Given the description of an element on the screen output the (x, y) to click on. 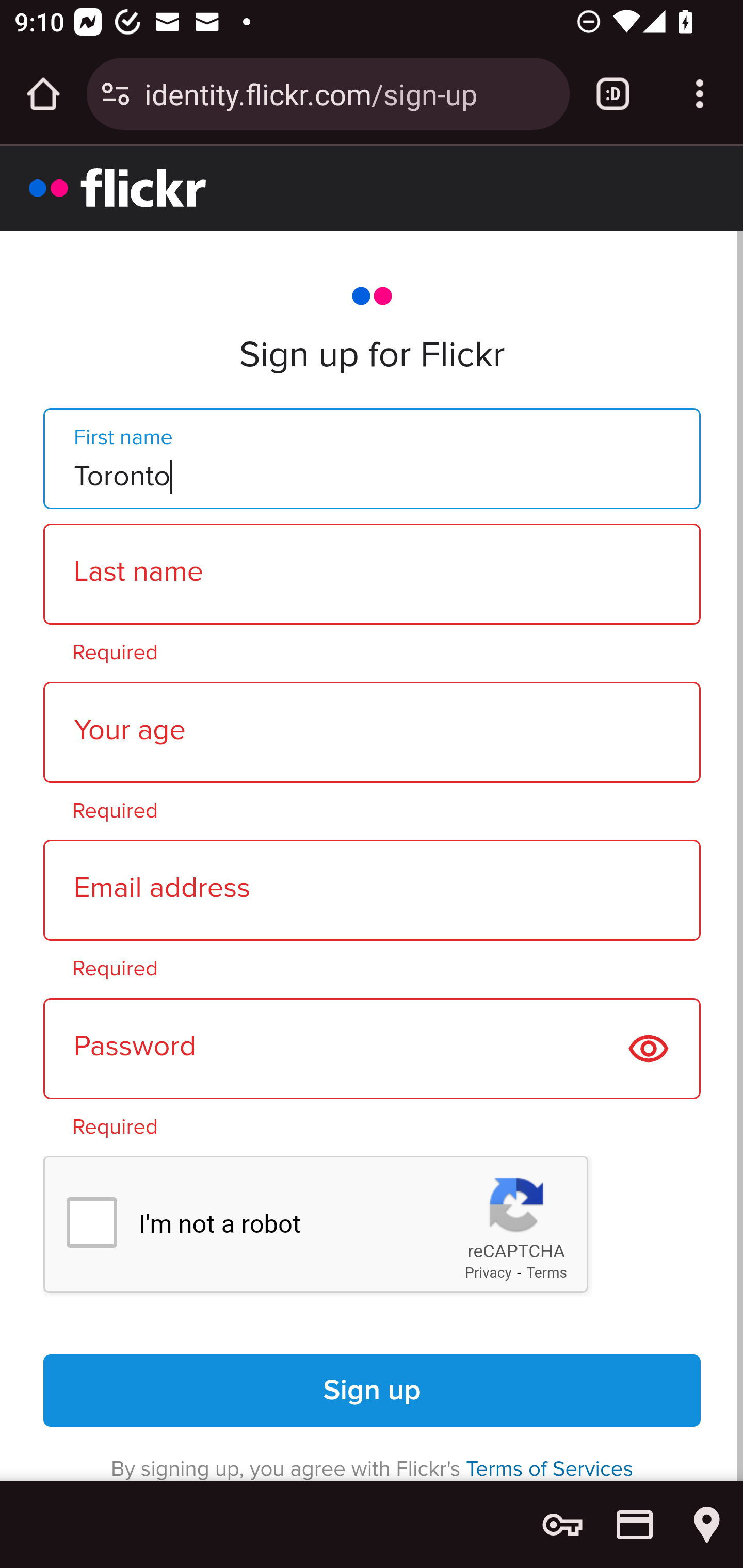
Open the home page (43, 93)
Connection is secure (115, 93)
Switch or close tabs (612, 93)
Customize and control Google Chrome (699, 93)
identity.flickr.com/sign-up (349, 92)
Flickr Logo (117, 186)
Toronto (371, 456)
I'm not a robot (91, 1222)
Privacy (488, 1272)
Terms (546, 1272)
Sign up (372, 1390)
Terms of Services (549, 1468)
Show saved passwords and password options (562, 1524)
Show saved payment methods (634, 1524)
Show saved addresses (706, 1524)
